Given the description of an element on the screen output the (x, y) to click on. 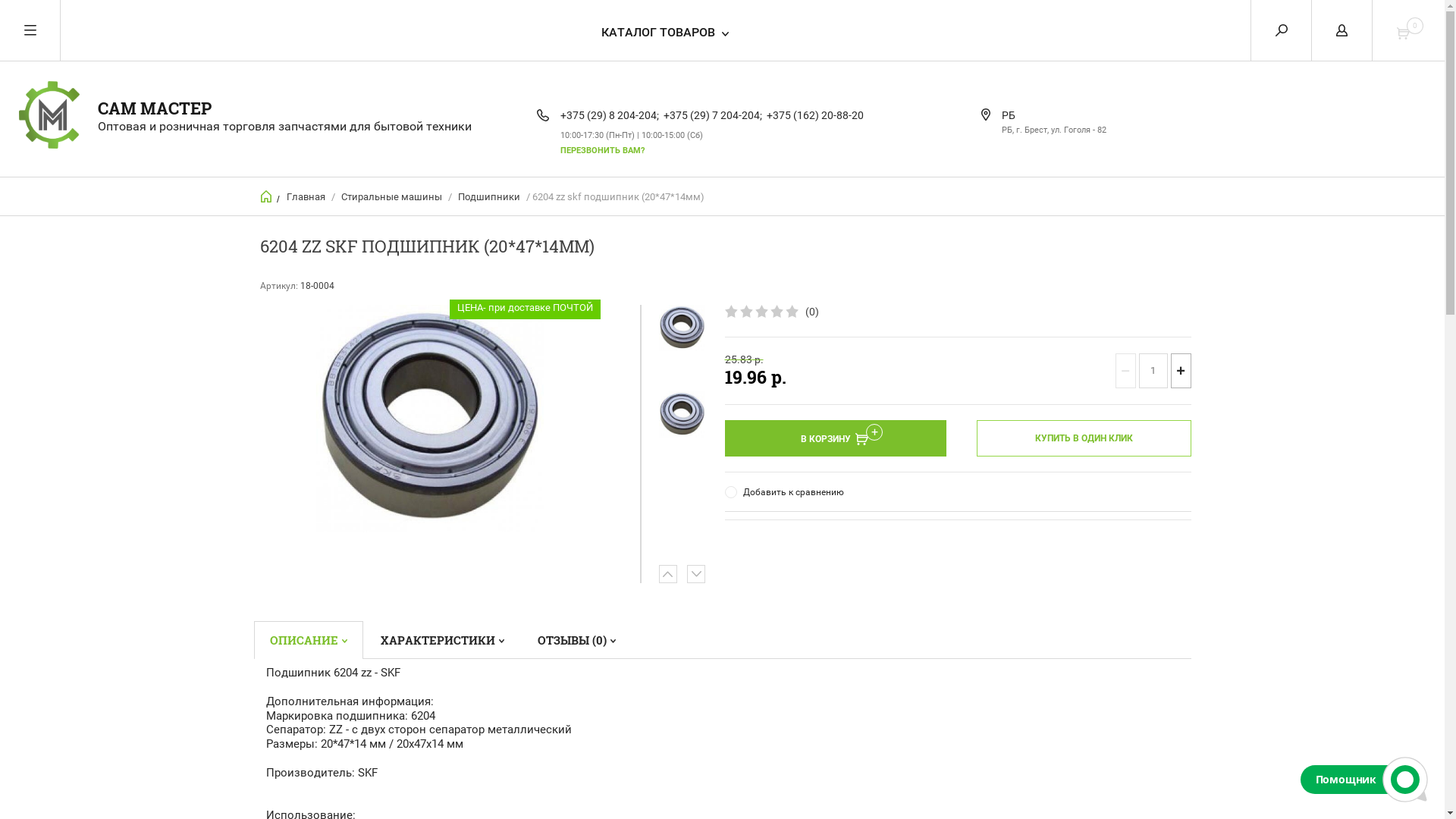
+375 (29) 7 204-204; Element type: text (712, 115)
+375 (162) 20-88-20 Element type: text (814, 115)
+375 (29) 8 204-204; Element type: text (609, 115)
+ Element type: text (1180, 370)
